Given the description of an element on the screen output the (x, y) to click on. 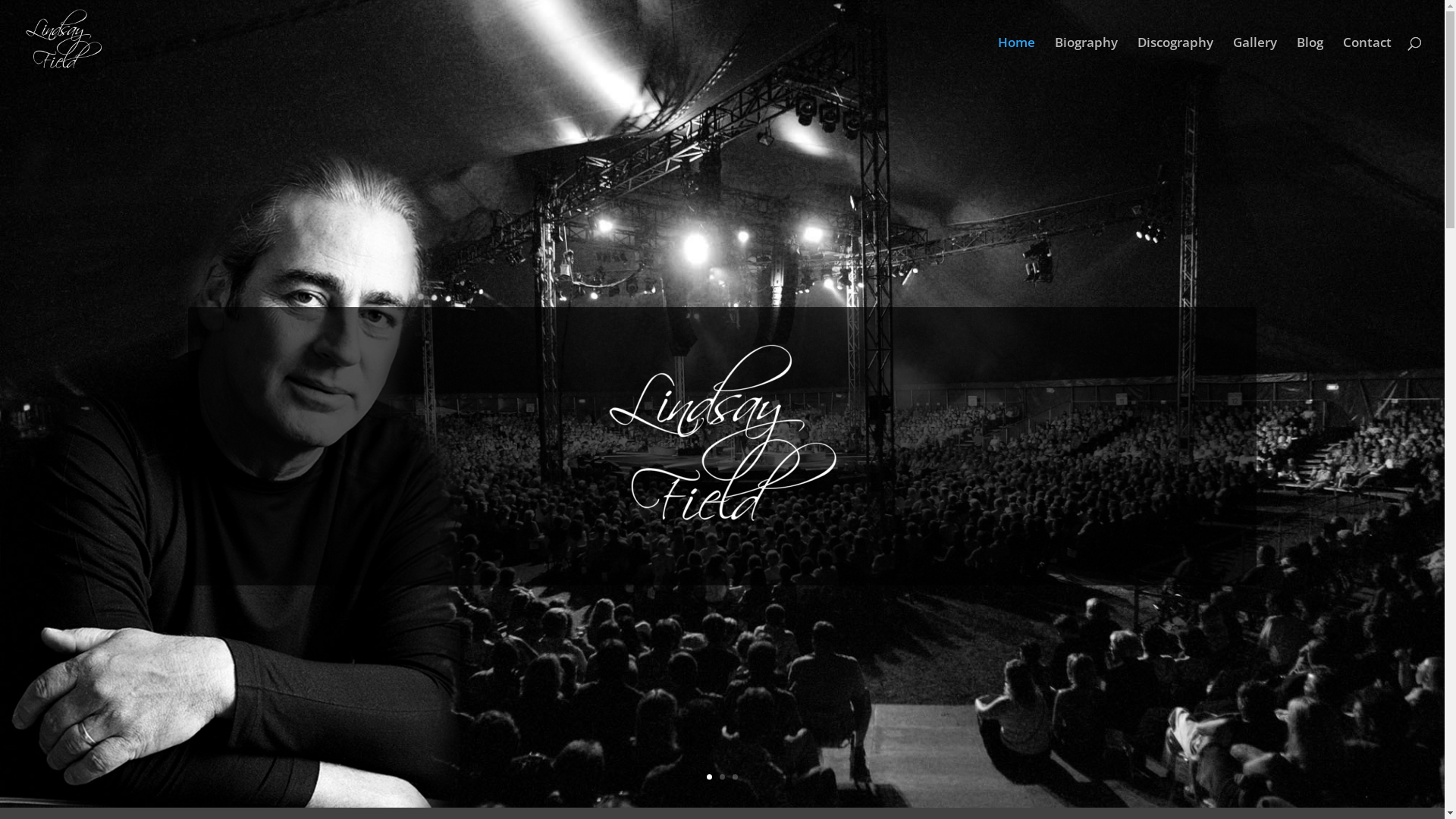
3 Element type: text (734, 776)
Contact Element type: text (1367, 60)
2 Element type: text (721, 776)
Gallery Element type: text (1255, 60)
Biography Element type: text (1085, 60)
Home Element type: text (1016, 60)
1 Element type: text (709, 776)
Discography Element type: text (1175, 60)
Blog Element type: text (1309, 60)
